Given the description of an element on the screen output the (x, y) to click on. 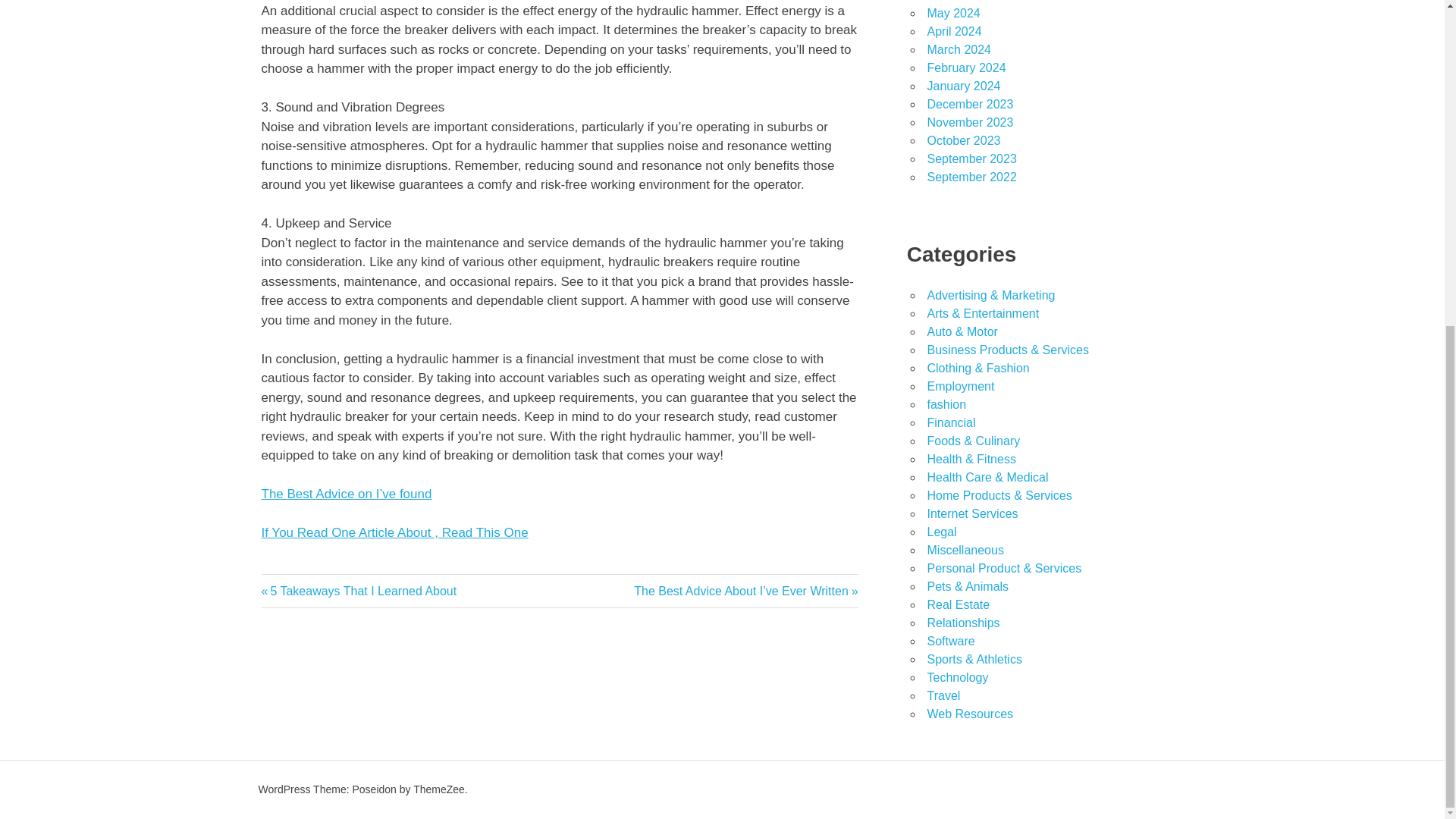
September 2022 (971, 176)
April 2024 (953, 31)
fashion (946, 404)
February 2024 (966, 67)
November 2023 (969, 122)
If You Read One Article About , Read This One (393, 532)
Employment (960, 386)
Financial (950, 422)
June 2024 (955, 0)
